Given the description of an element on the screen output the (x, y) to click on. 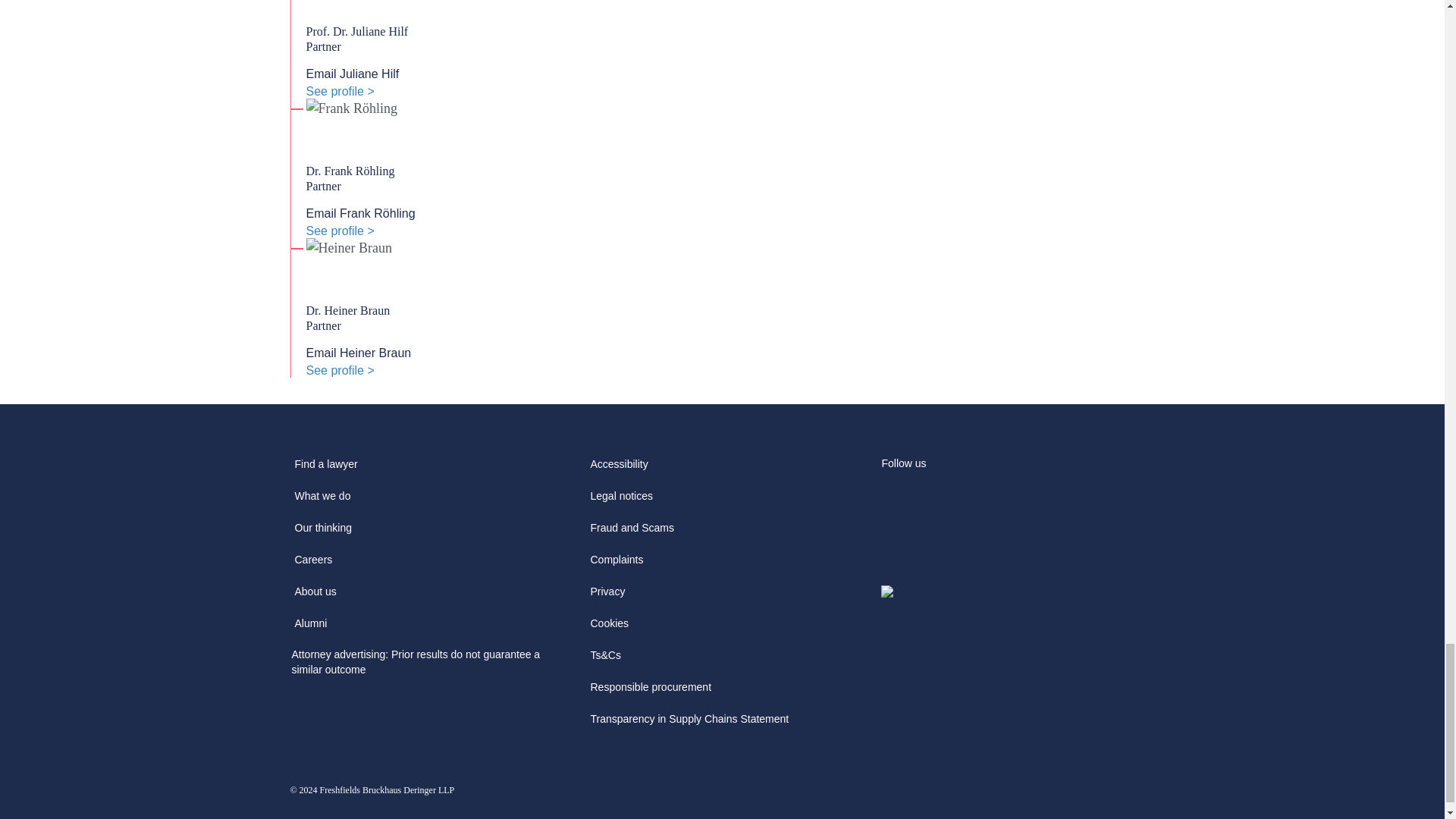
Fraud and Scams (631, 532)
What we do (322, 500)
About us (315, 596)
Legal notices (621, 500)
Alumni (310, 628)
Cookies (608, 628)
Privacy (606, 596)
Careers (312, 564)
Accessibility (618, 469)
Find a lawyer (325, 469)
